Given the description of an element on the screen output the (x, y) to click on. 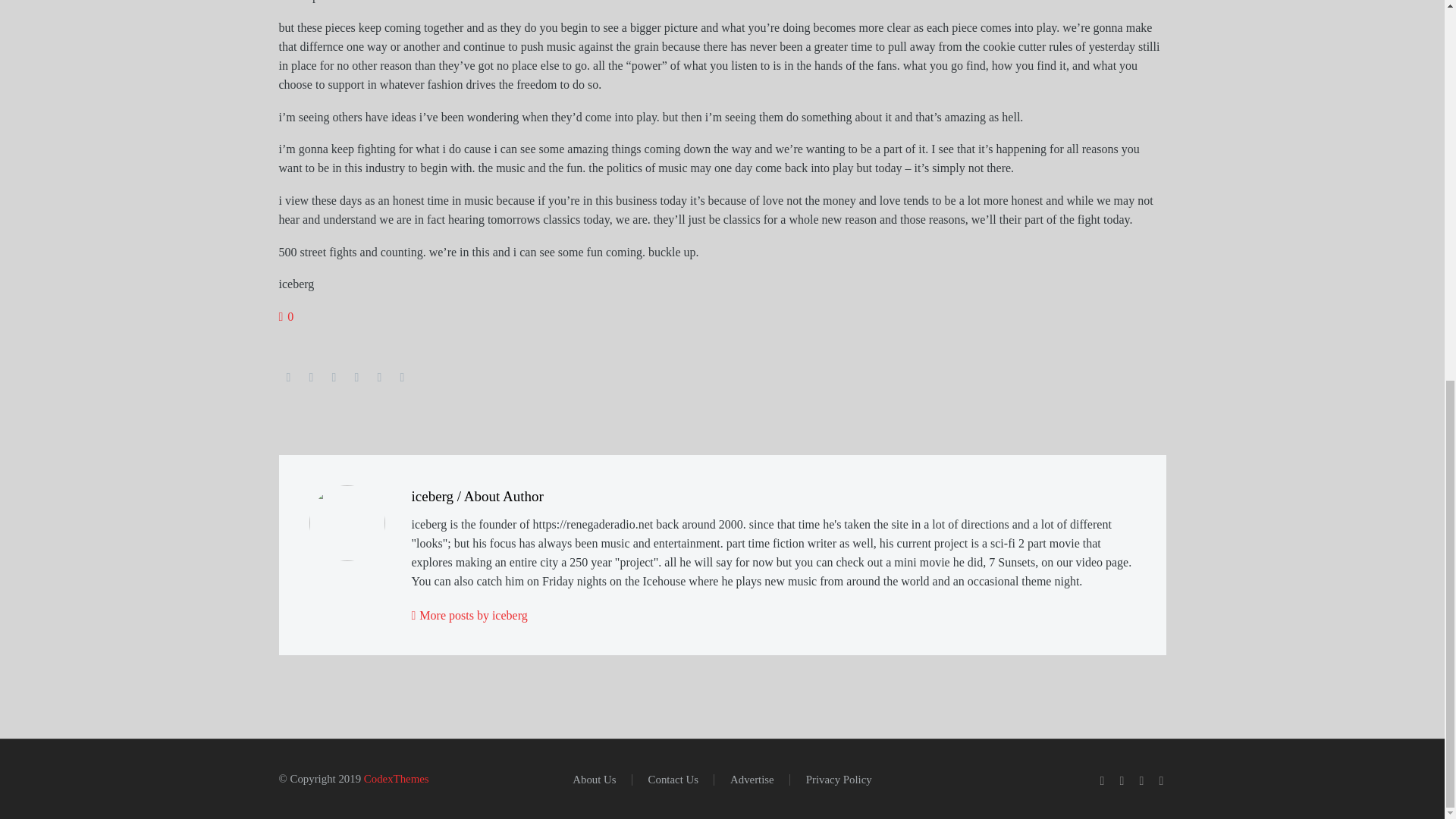
Facebook (288, 377)
Twitter (310, 377)
Pinterest (333, 377)
Tumblr (356, 377)
